Given the description of an element on the screen output the (x, y) to click on. 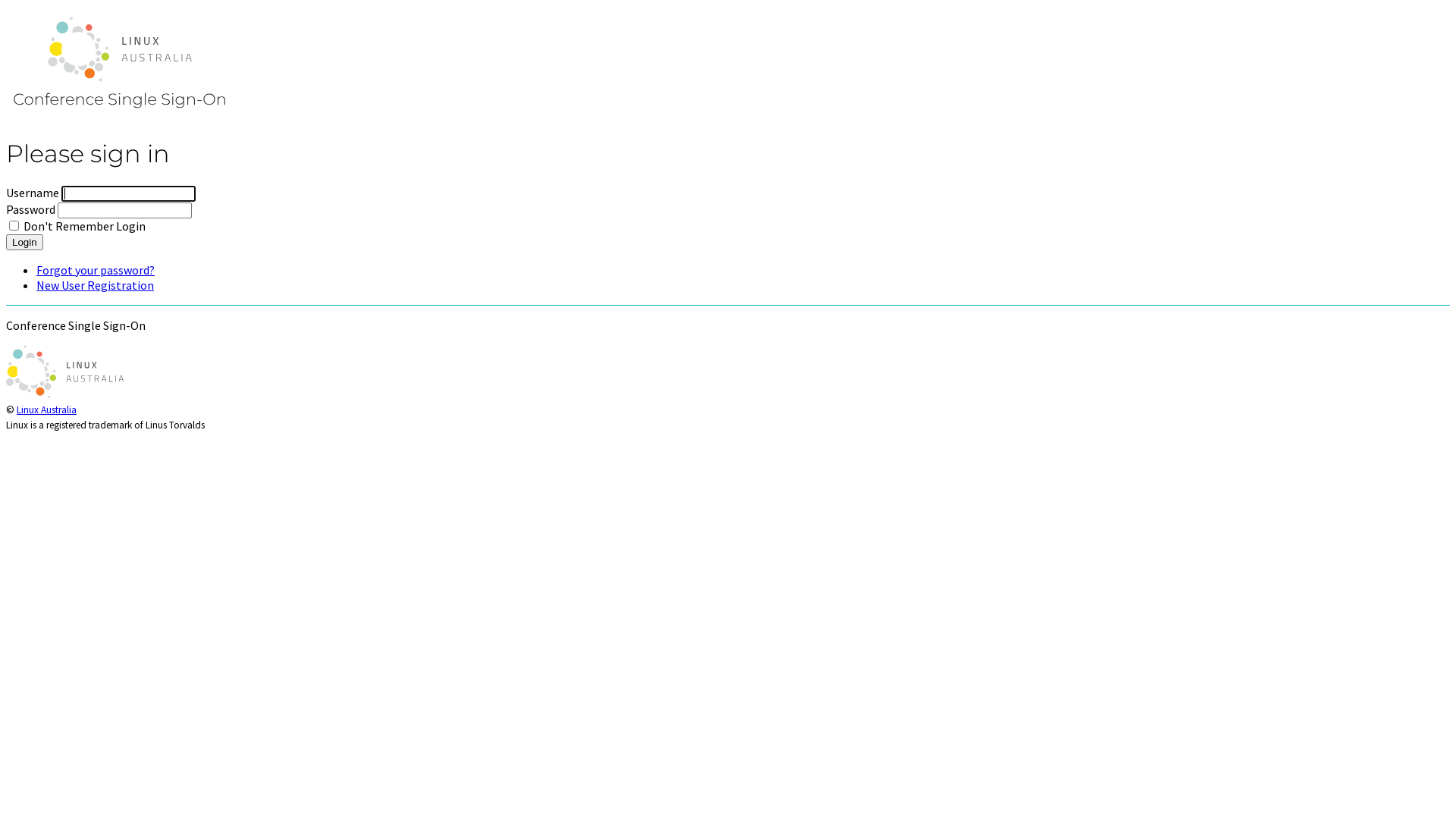
Linux Australia Element type: text (46, 409)
Login Element type: text (24, 242)
New User Registration Element type: text (94, 284)
Forgot your password? Element type: text (95, 269)
